Given the description of an element on the screen output the (x, y) to click on. 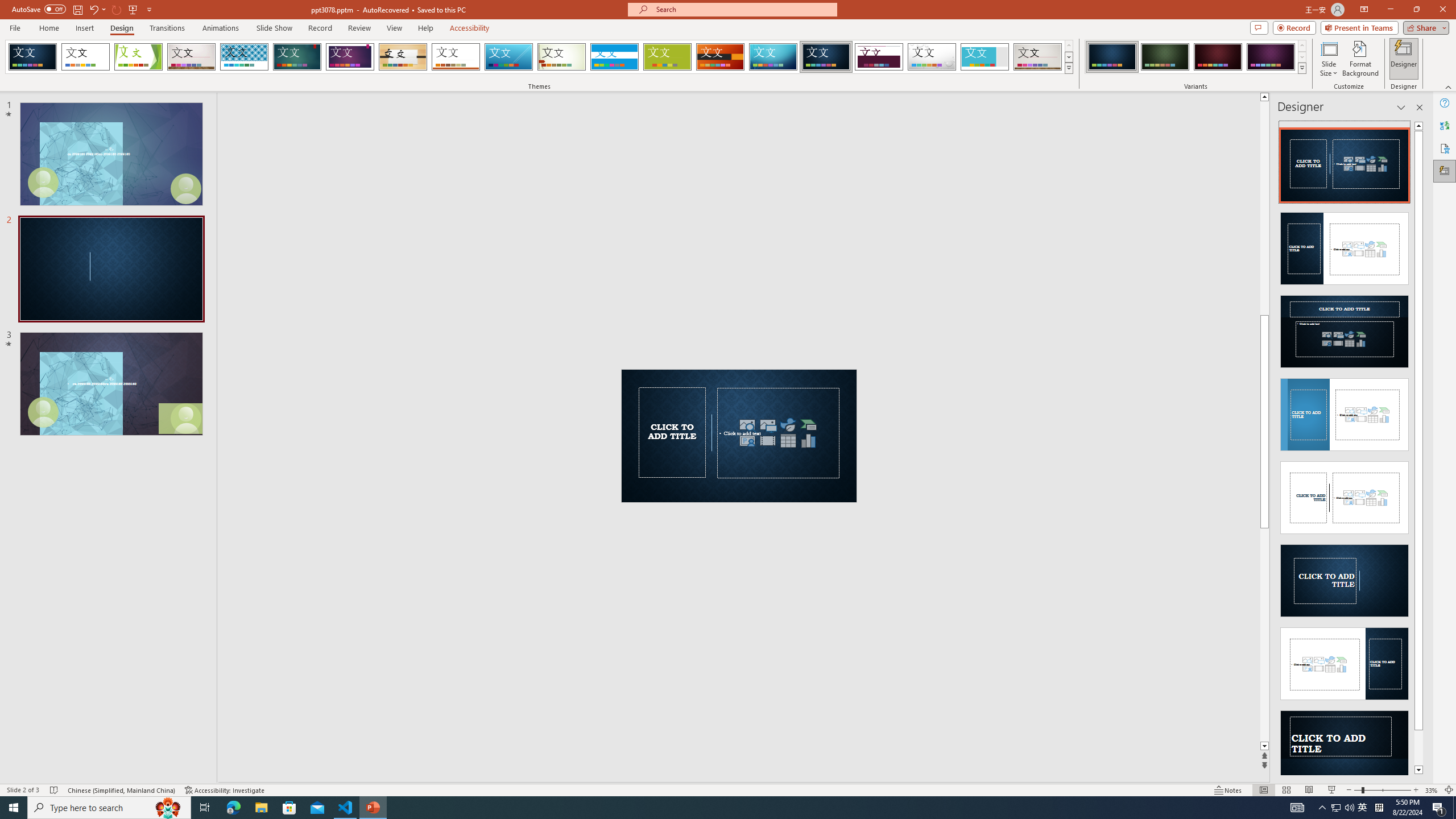
Damask (826, 56)
Facet (138, 56)
Damask Variant 1 (1112, 56)
Circuit (772, 56)
